Given the description of an element on the screen output the (x, y) to click on. 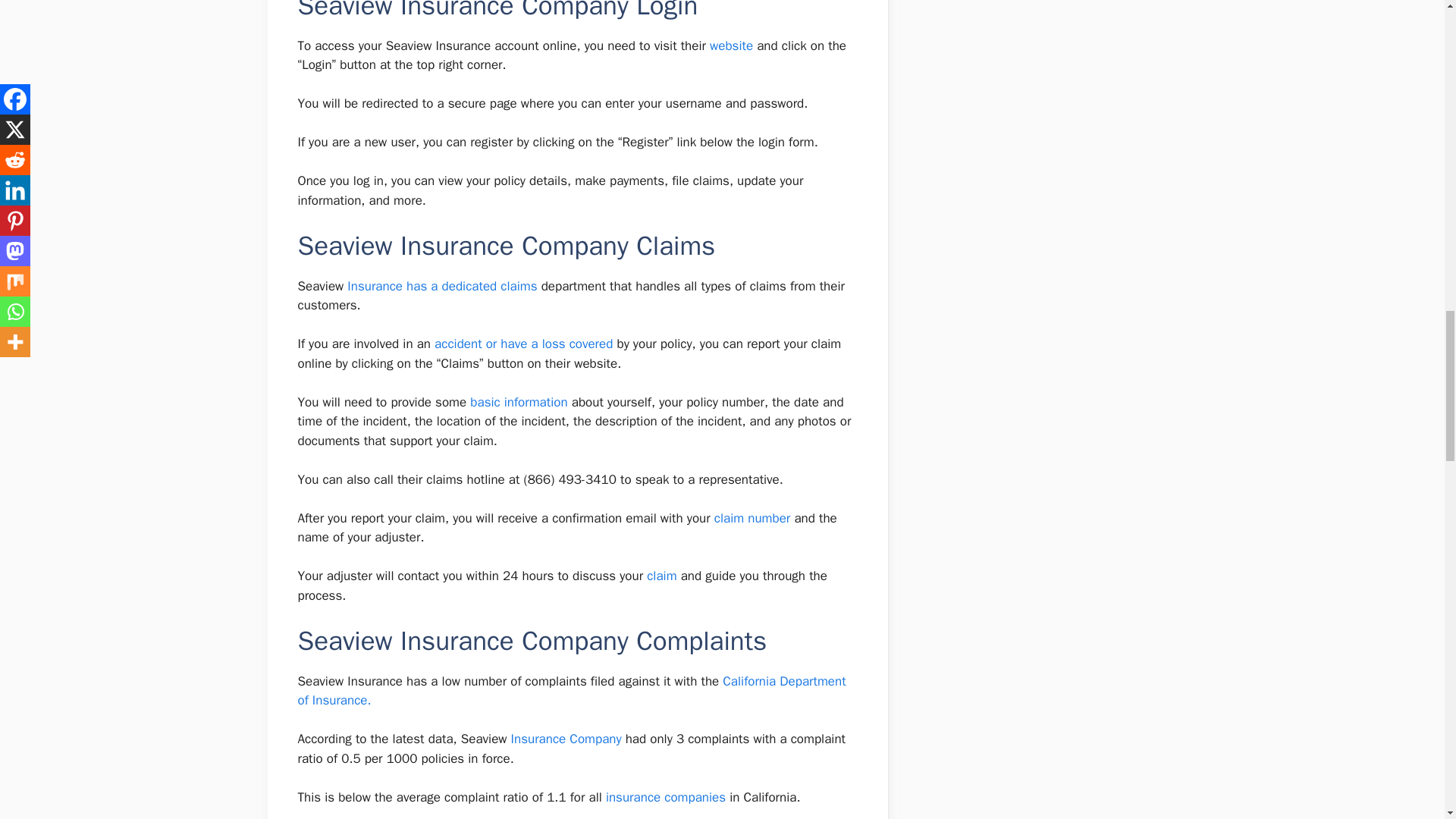
accident or have a loss covered (522, 343)
California Department of Insurance. (571, 691)
basic information (518, 401)
claim (661, 575)
claim number (752, 518)
Insurance Company (566, 738)
Insurance has a dedicated claims (442, 286)
website (733, 45)
